Given the description of an element on the screen output the (x, y) to click on. 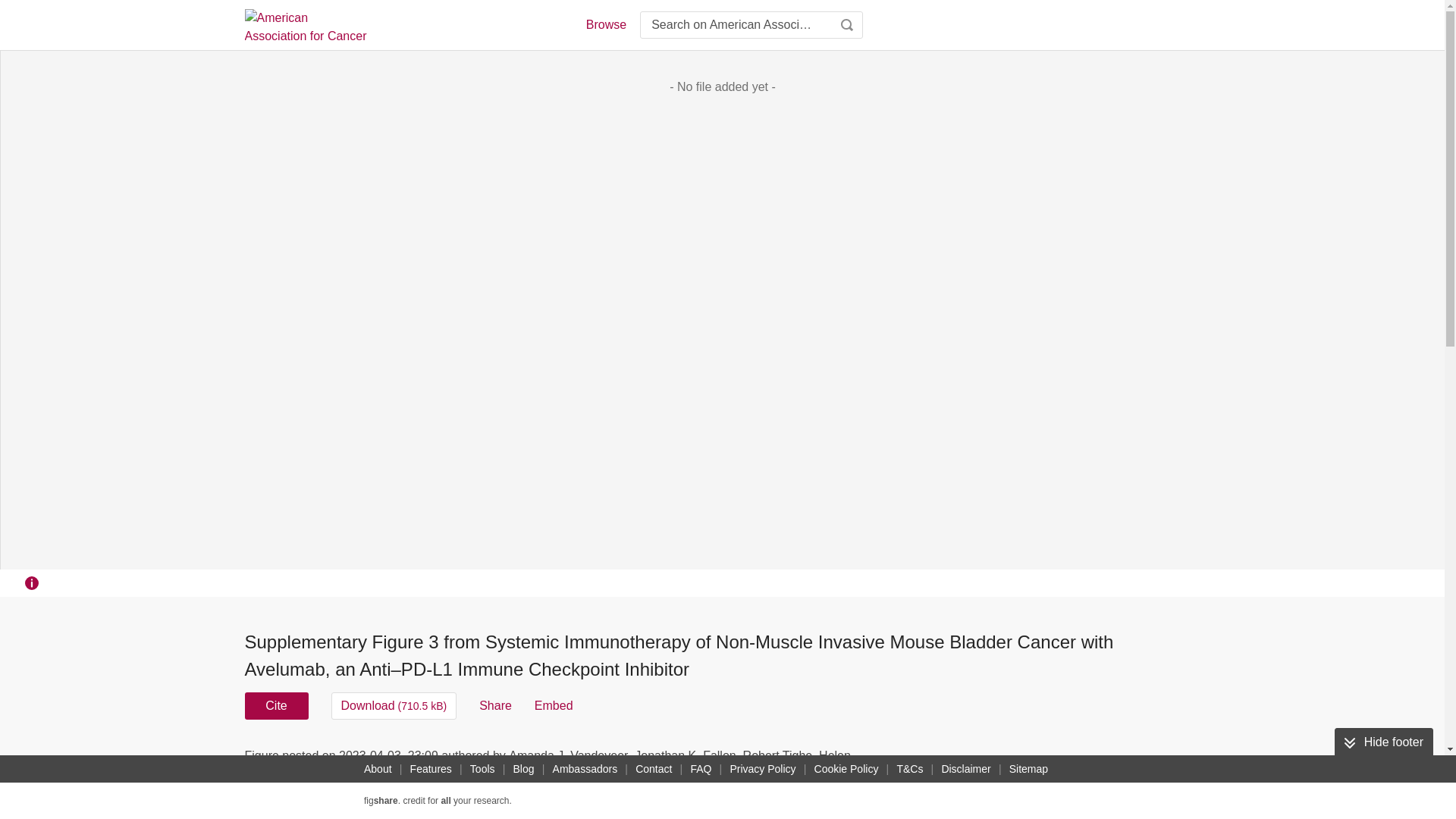
About (377, 769)
Share (495, 705)
Browse (605, 24)
Blog (523, 769)
Contact (653, 769)
Ambassadors (585, 769)
Features (431, 769)
Embed (553, 705)
Cite (275, 705)
USAGE METRICS (976, 759)
